Given the description of an element on the screen output the (x, y) to click on. 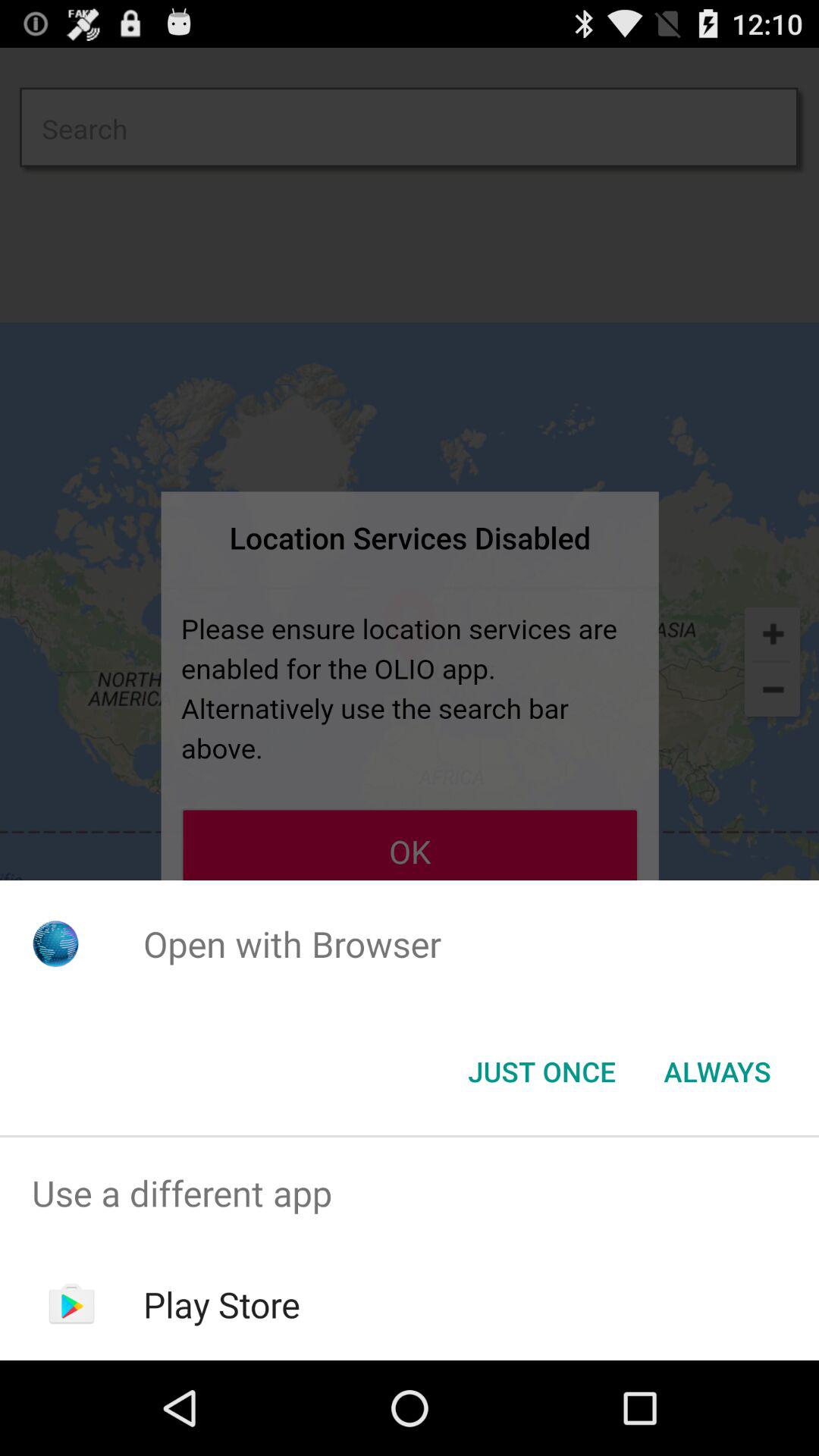
tap just once (541, 1071)
